Given the description of an element on the screen output the (x, y) to click on. 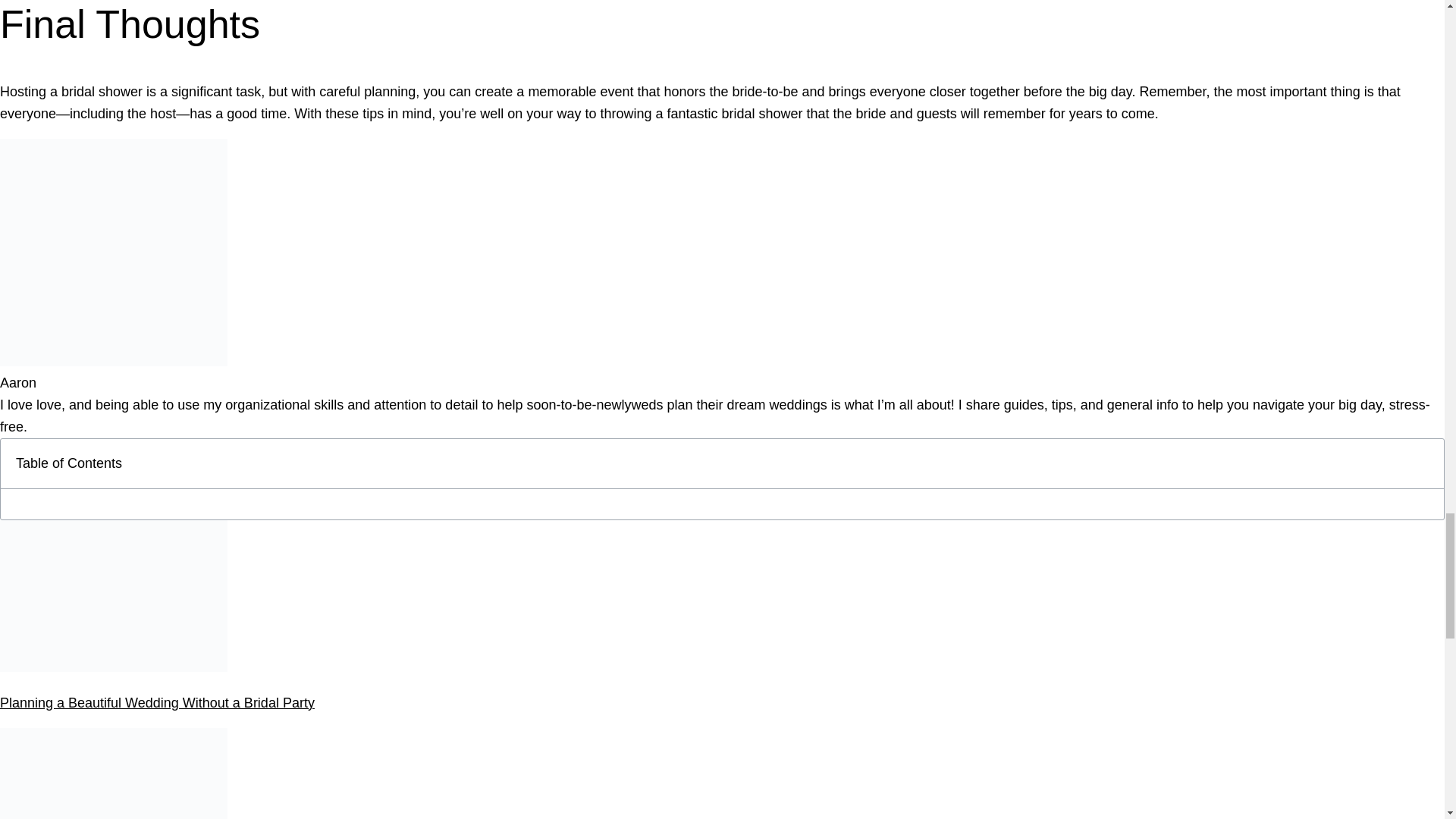
Planning a Beautiful Wedding Without a Bridal Party (157, 702)
